Given the description of an element on the screen output the (x, y) to click on. 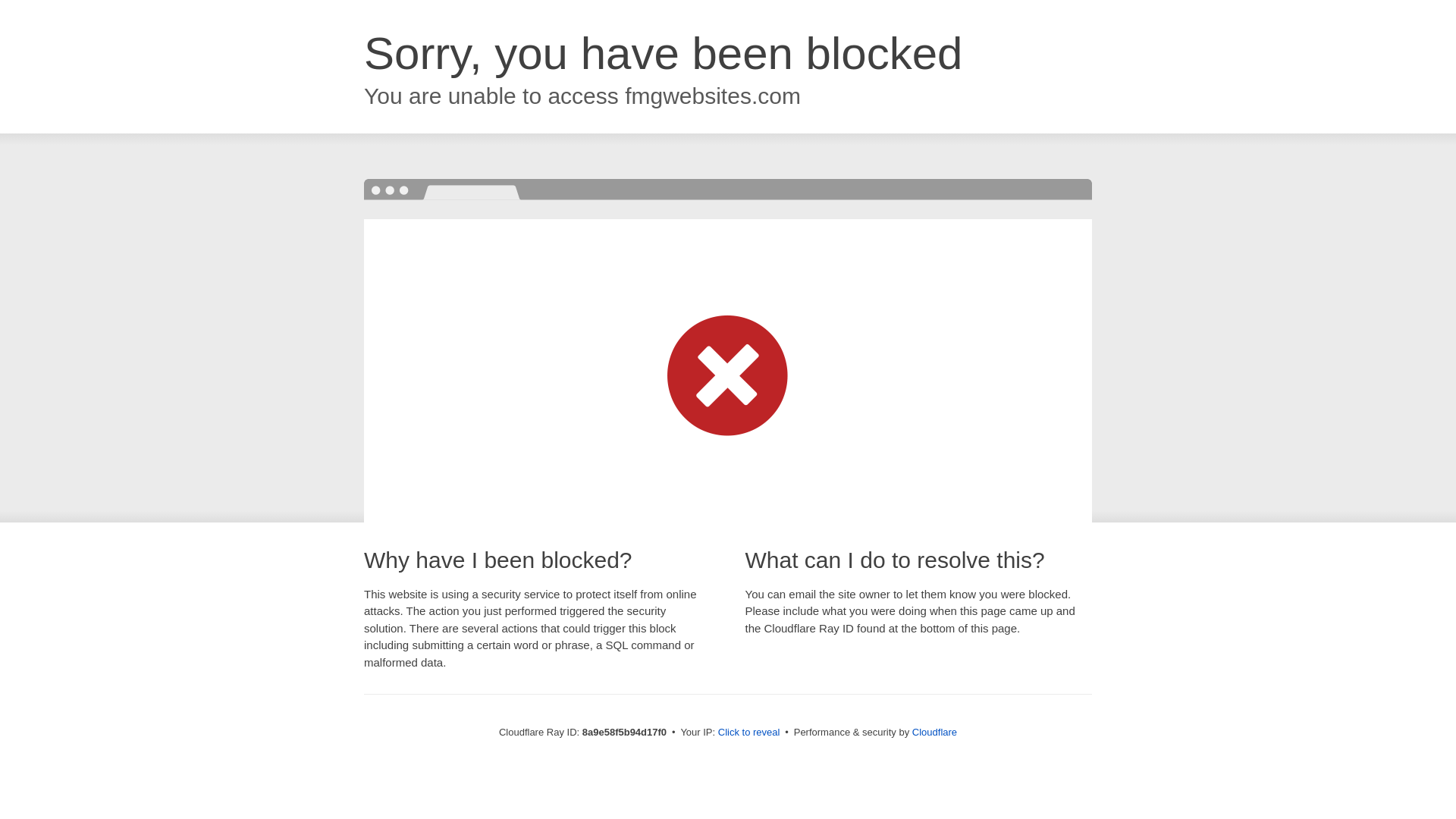
Click to reveal (748, 732)
Cloudflare (934, 731)
